Given the description of an element on the screen output the (x, y) to click on. 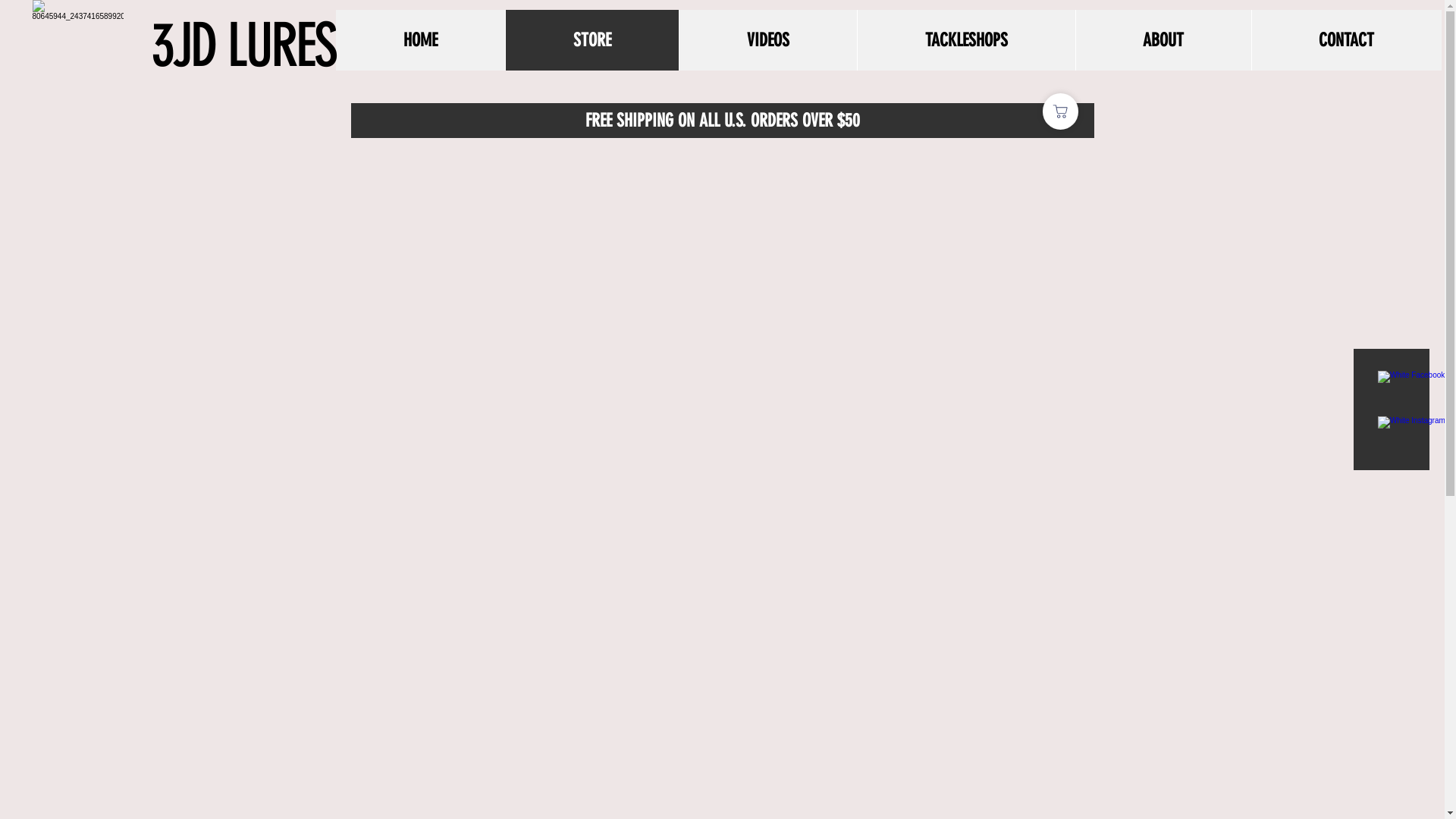
CONTACT Element type: text (1346, 39)
TACKLESHOPS Element type: text (965, 39)
ABOUT Element type: text (1163, 39)
STORE Element type: text (591, 39)
HOME Element type: text (419, 39)
VIDEOS Element type: text (766, 39)
